Given the description of an element on the screen output the (x, y) to click on. 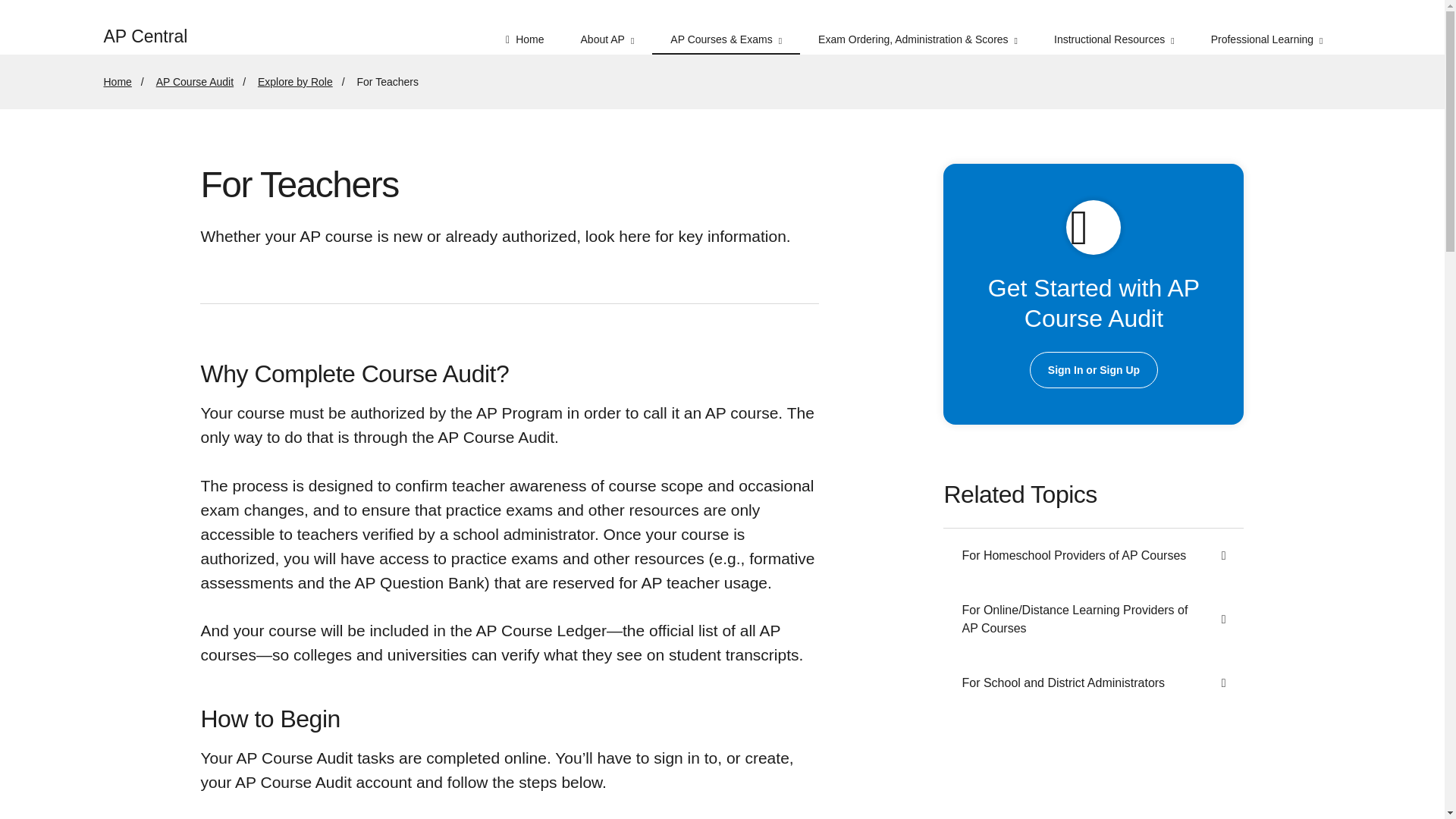
Instructional Resources (1113, 27)
About AP (607, 27)
AP Central (154, 27)
Home (524, 27)
Professional Learning (1266, 27)
